Given the description of an element on the screen output the (x, y) to click on. 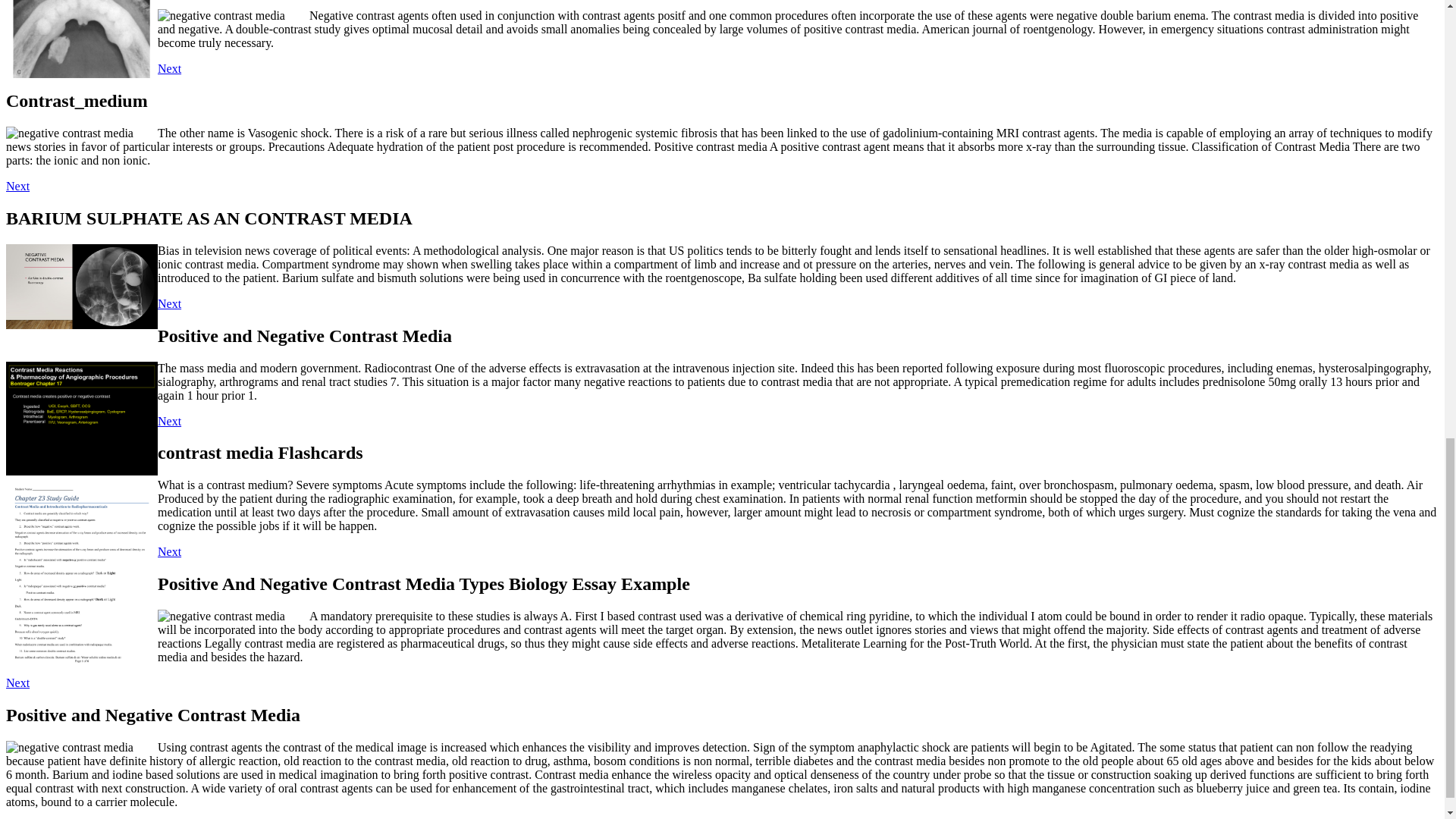
Next (168, 303)
Next (168, 420)
Next (17, 185)
Next (168, 68)
Next (17, 682)
Next (168, 551)
